Given the description of an element on the screen output the (x, y) to click on. 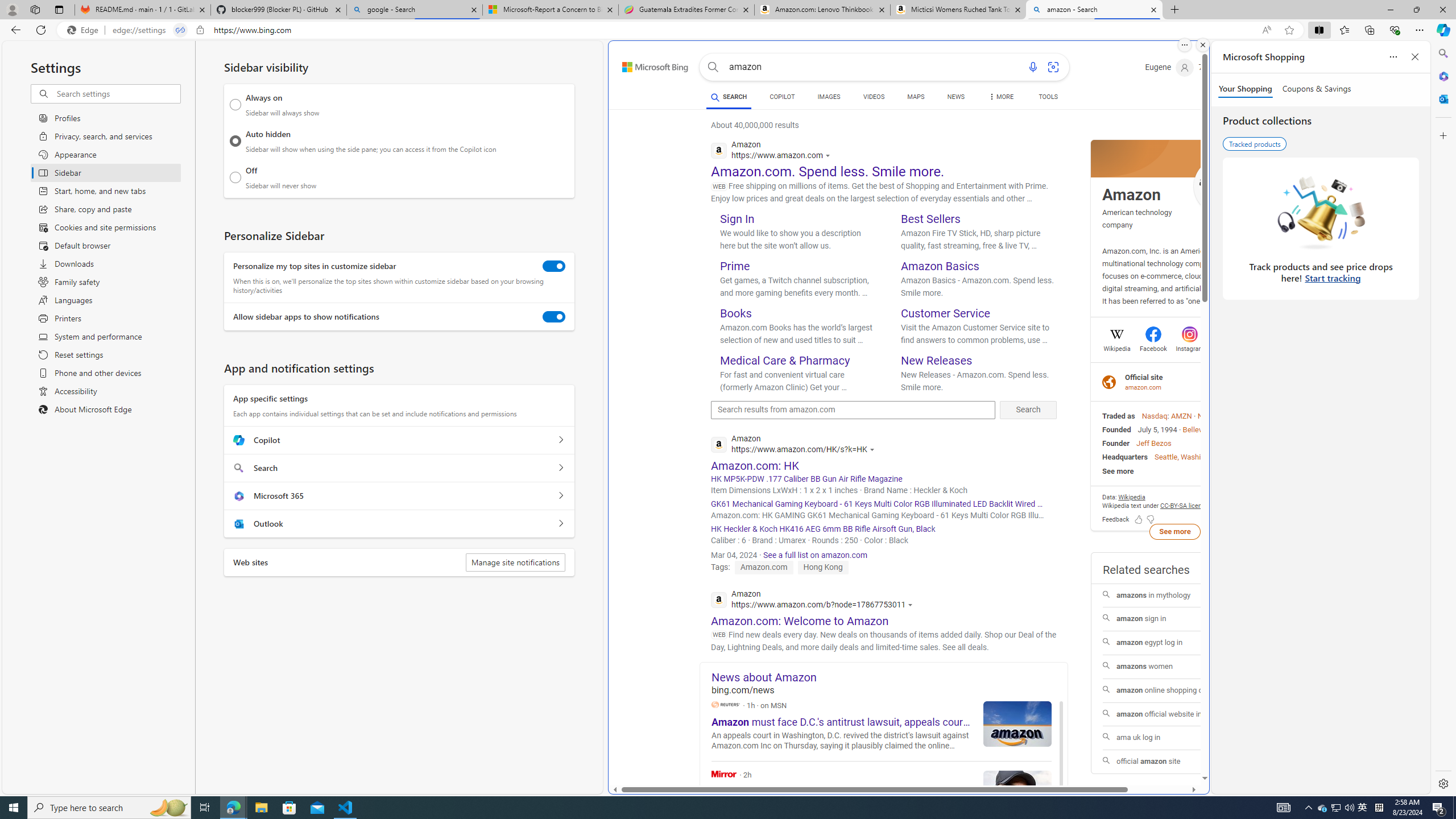
AutomationID: mfa_root (1161, 743)
Best Sellers (930, 218)
Customize (1442, 135)
VIDEOS (873, 98)
Eugene (1168, 67)
Back to Bing search (648, 64)
Search button (713, 66)
Class: spl_logobg (1174, 158)
Bellevue, Washington (1217, 429)
NEWS (955, 98)
Traded as (1118, 415)
